Given the description of an element on the screen output the (x, y) to click on. 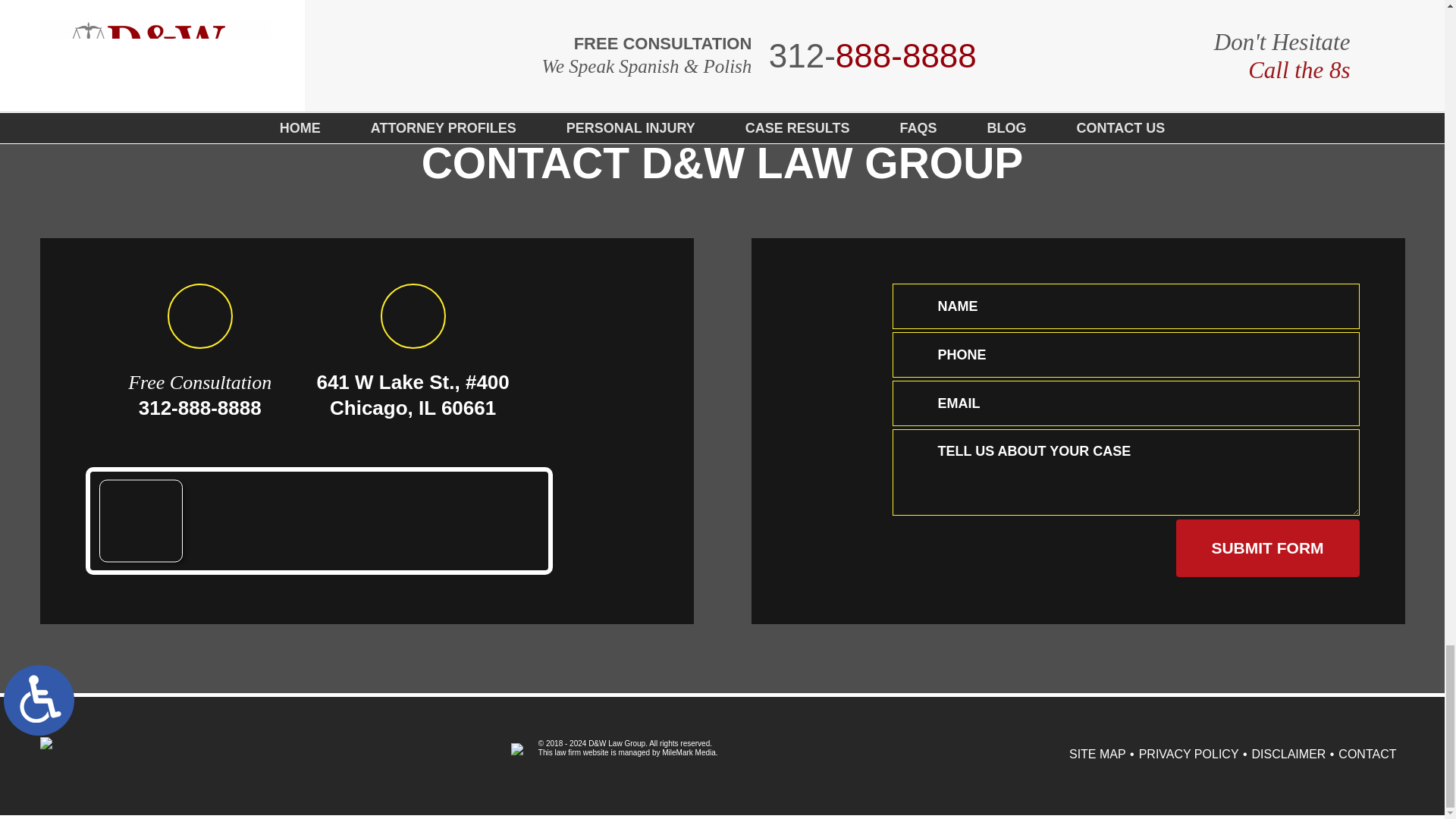
Phone (1124, 354)
Name (1124, 306)
Email (1124, 402)
Submit Form (1266, 548)
